Given the description of an element on the screen output the (x, y) to click on. 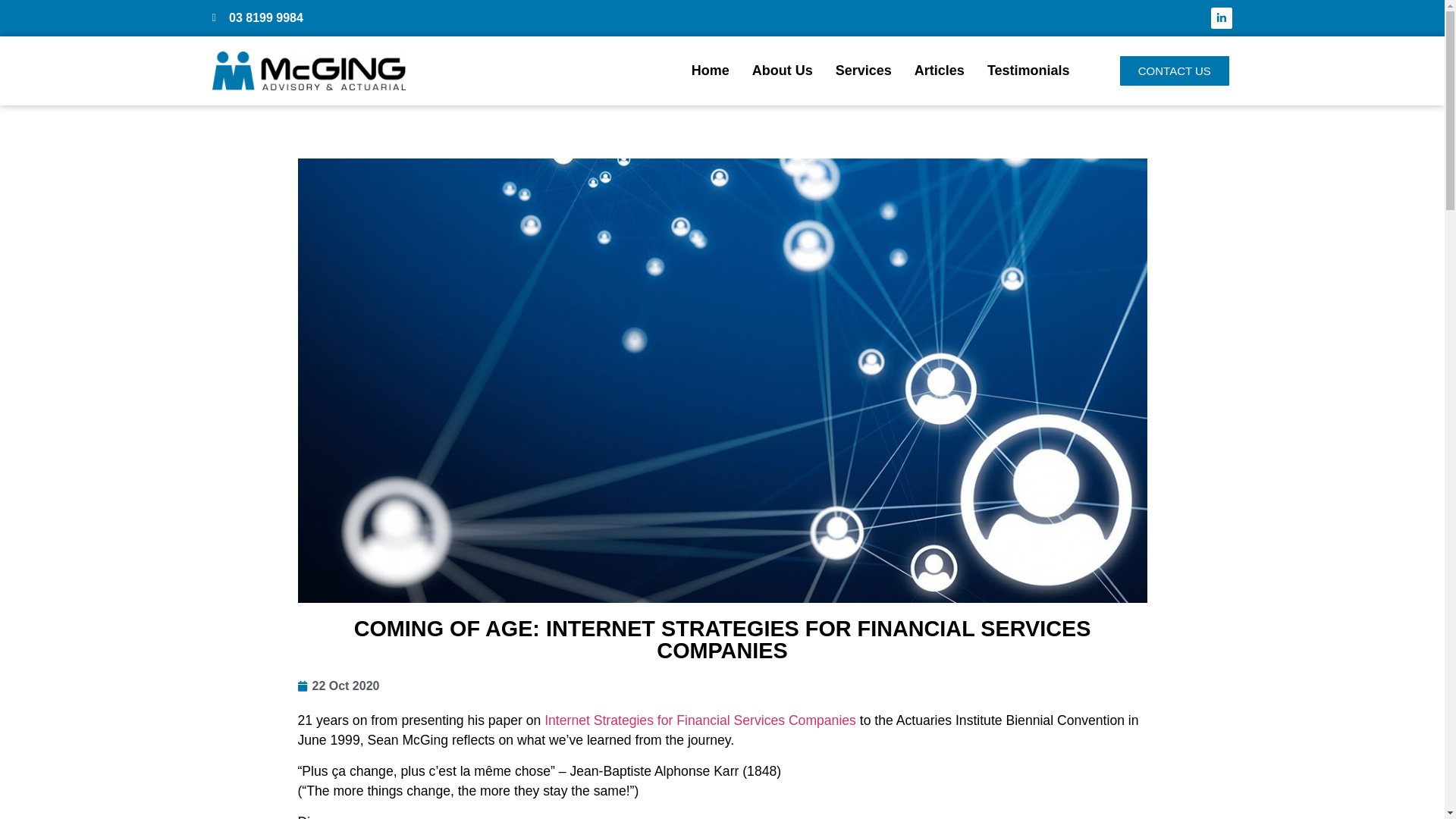
Articles Element type: text (939, 70)
CONTACT US Element type: text (1174, 70)
Testimonials Element type: text (1028, 70)
Services Element type: text (863, 70)
About Us Element type: text (782, 70)
Internet Strategies for Financial Services Companies Element type: text (701, 720)
Home Element type: text (710, 70)
22 Oct 2020 Element type: text (338, 686)
